Given the description of an element on the screen output the (x, y) to click on. 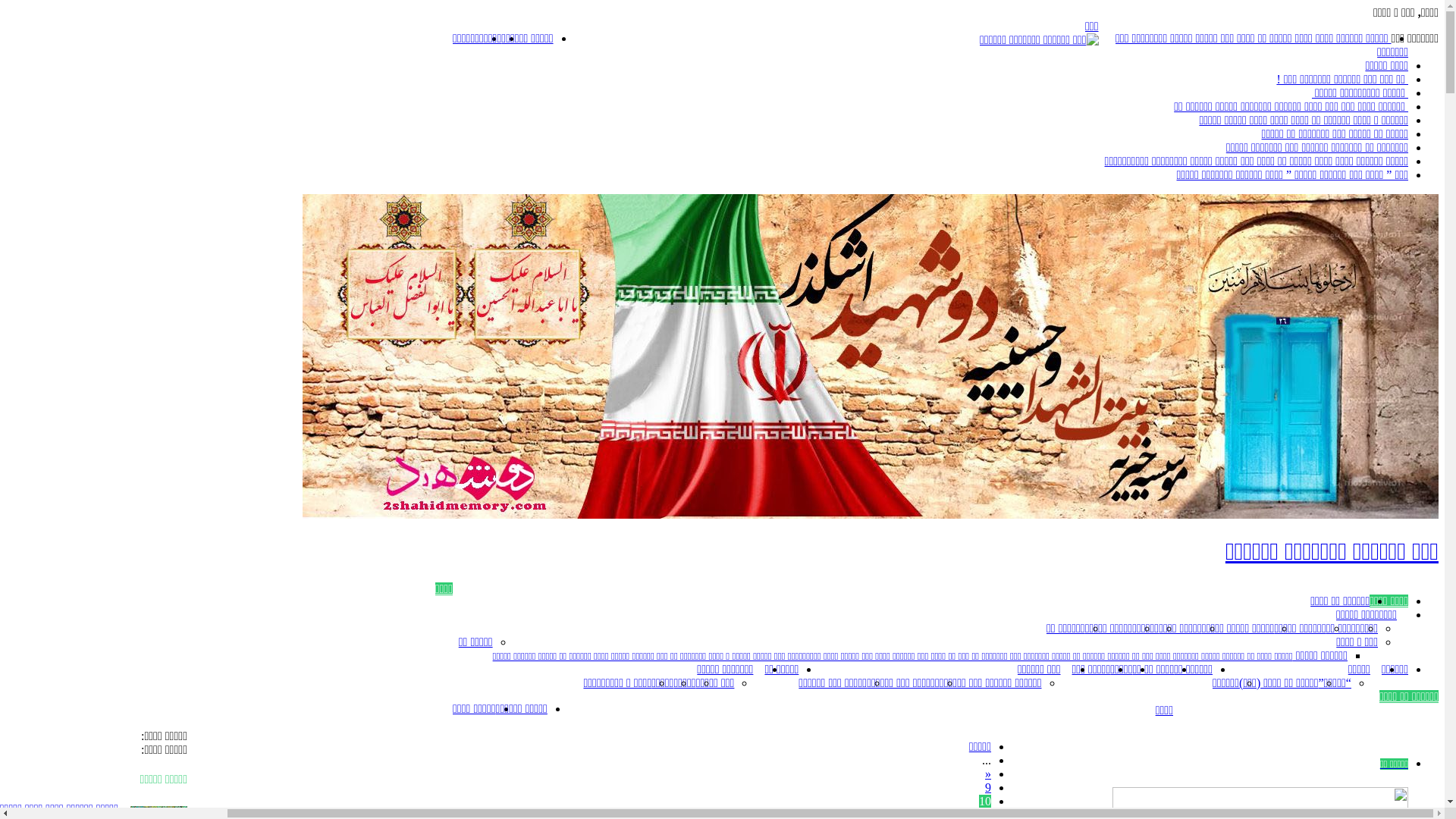
9 Element type: text (988, 787)
